Given the description of an element on the screen output the (x, y) to click on. 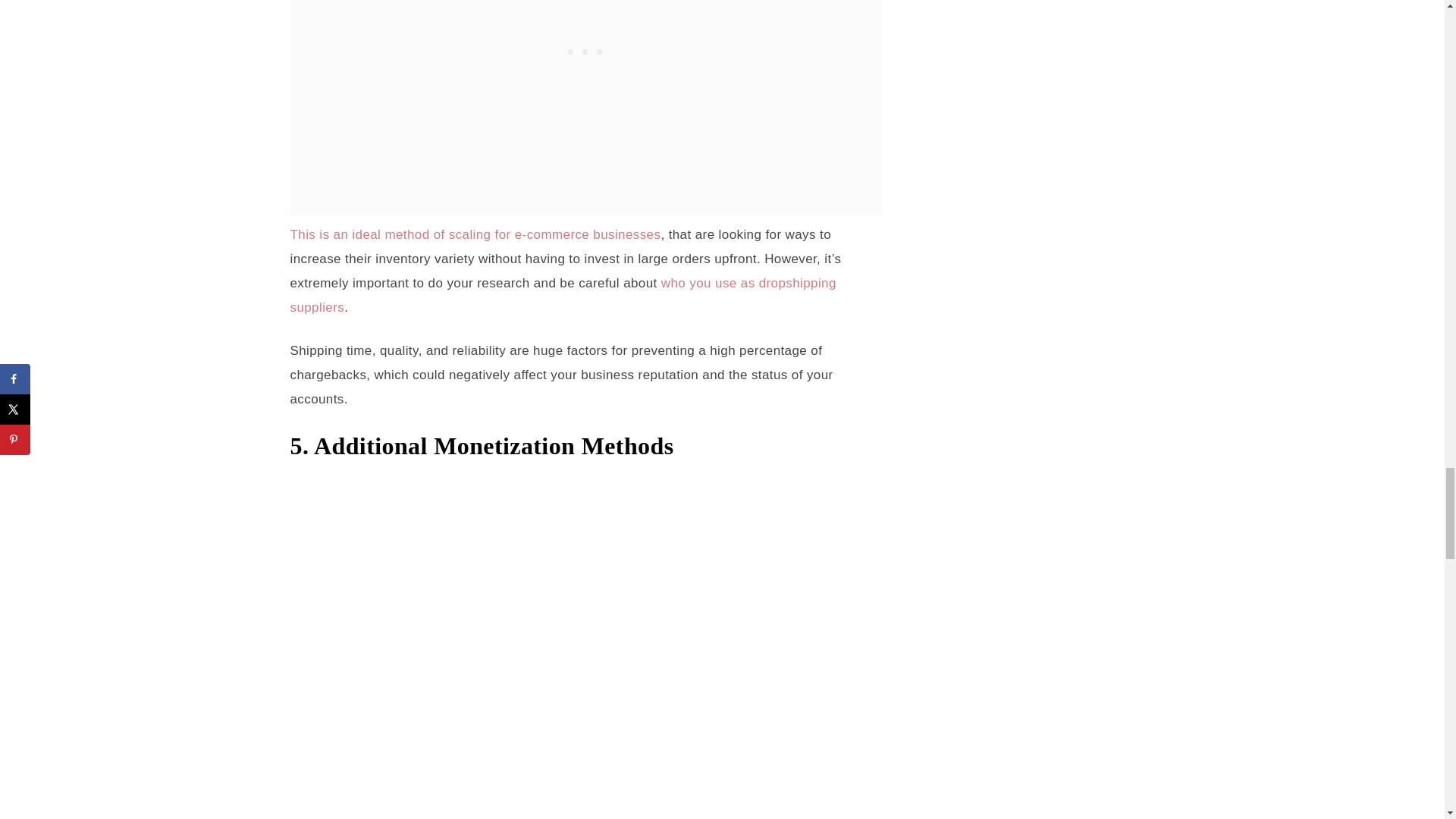
who you use as dropshipping suppliers (562, 295)
This is an ideal method of scaling for e-commerce businesses (475, 234)
